Given the description of an element on the screen output the (x, y) to click on. 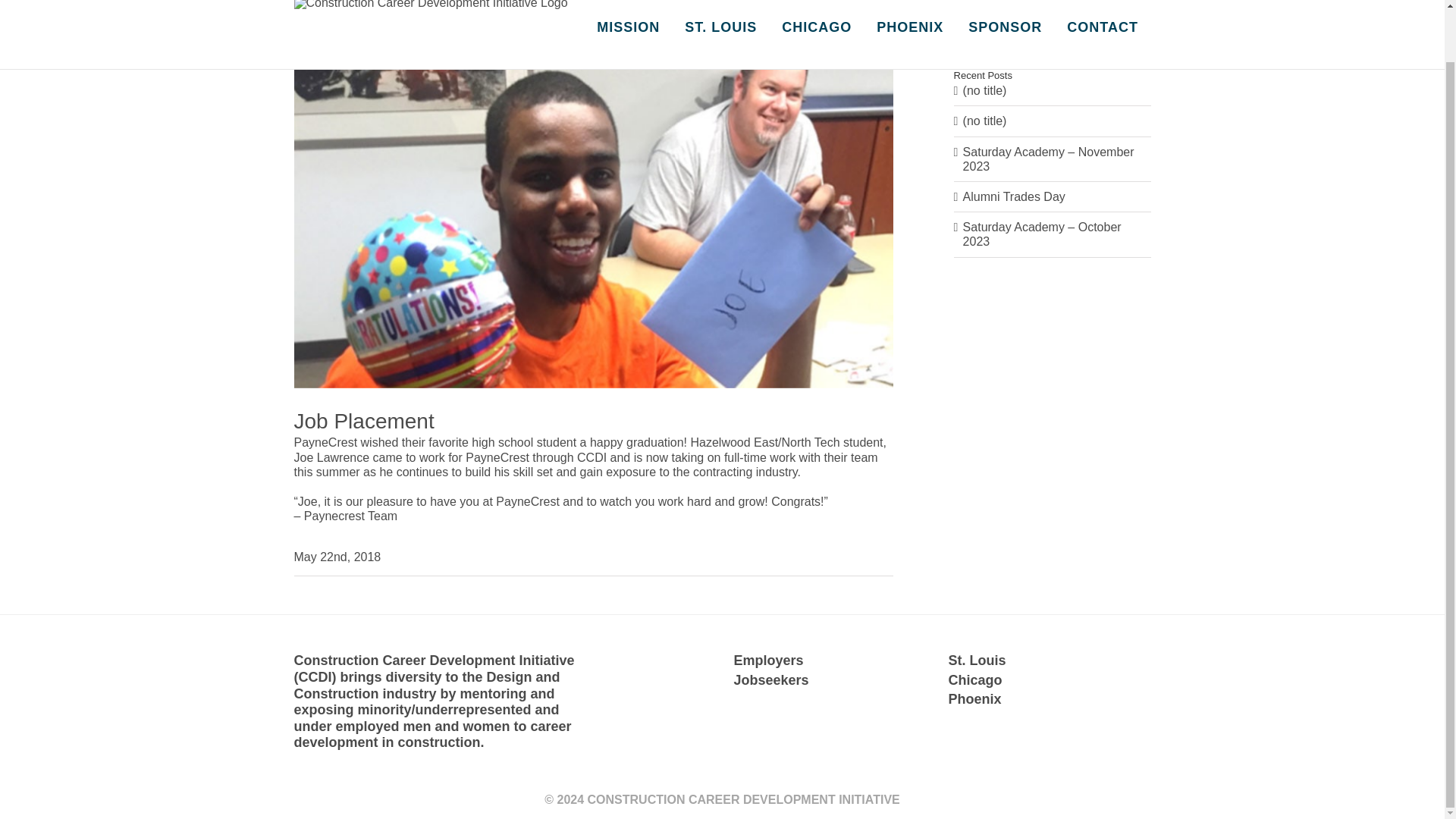
ST. LOUIS (721, 30)
Employers (768, 660)
CHICAGO (817, 30)
PHOENIX (910, 30)
MISSION (628, 30)
SPONSOR (1005, 30)
Alumni Trades Day (1013, 196)
CONTACT (1102, 30)
